Given the description of an element on the screen output the (x, y) to click on. 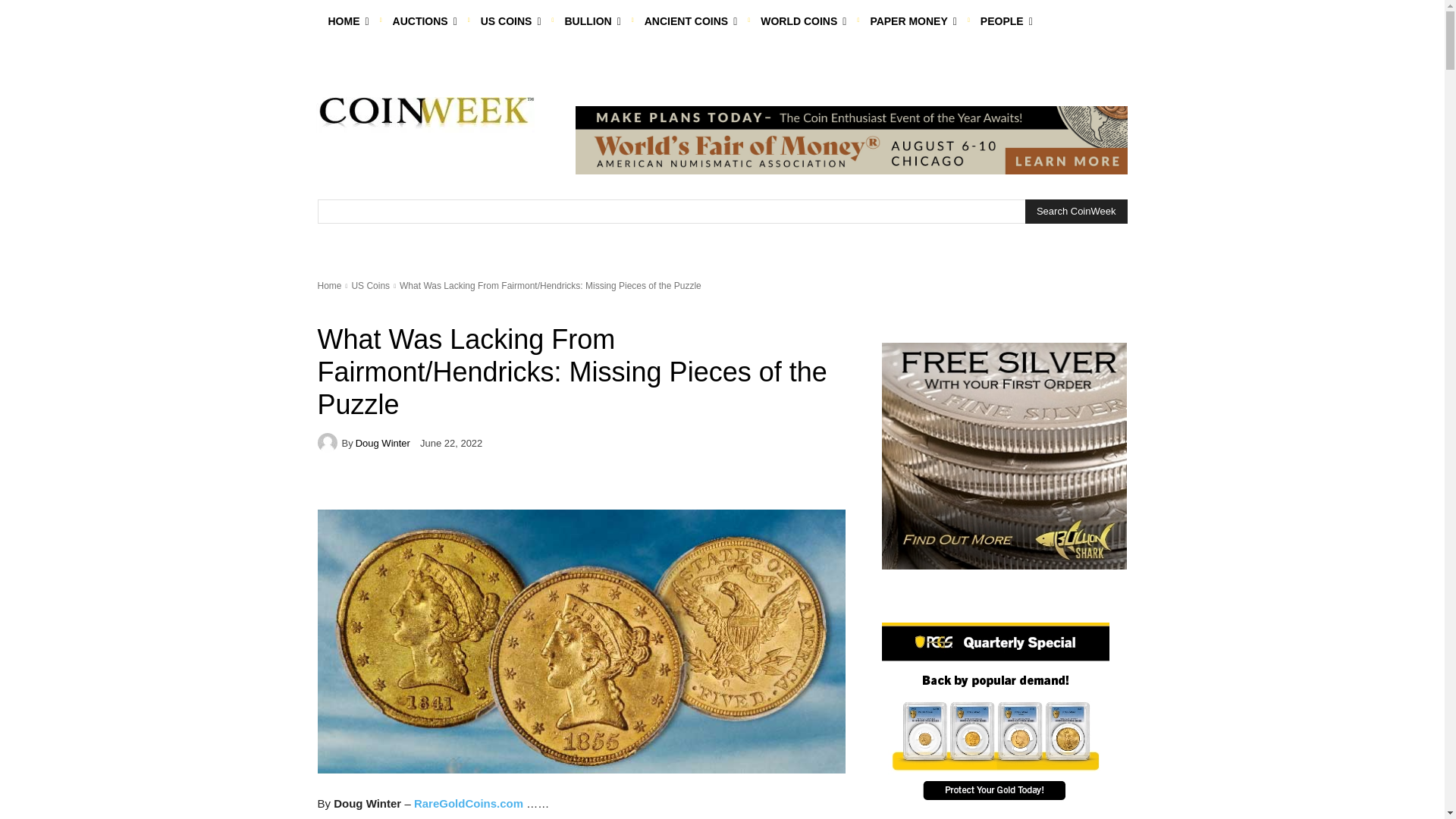
HOME (347, 21)
View all posts in US Coins (370, 285)
Doug Winter (328, 442)
AUCTIONS (424, 21)
